Given the description of an element on the screen output the (x, y) to click on. 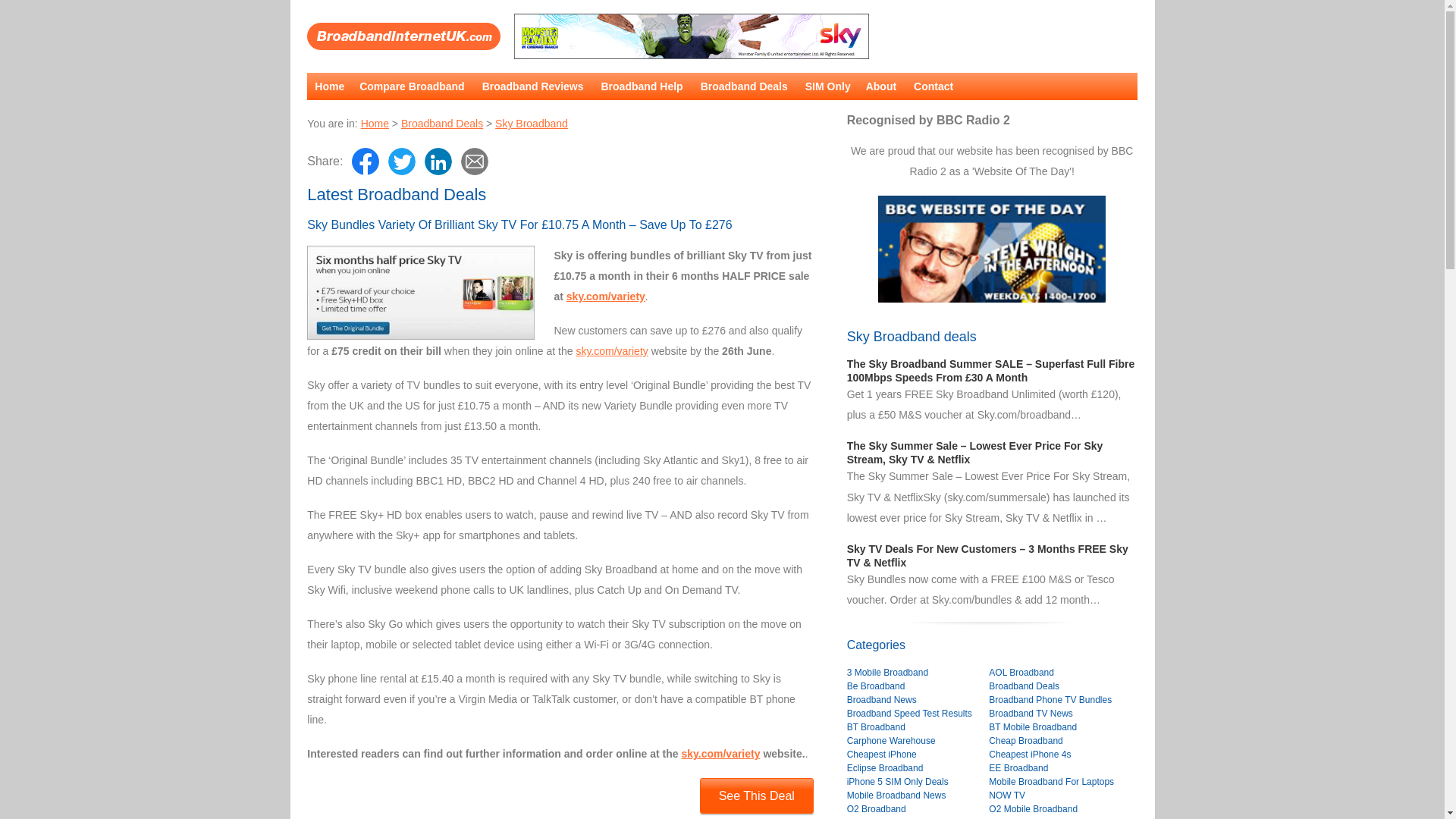
Latest Broadband Deals From The UK's Broadband Providers (403, 35)
Broadband Deals (442, 123)
Home (374, 123)
Sky Broadband (531, 123)
Latest Broadband Deals From The UK's Broadband Providers (442, 123)
See This Deal (756, 796)
Bradband Internet UK (374, 123)
